Given the description of an element on the screen output the (x, y) to click on. 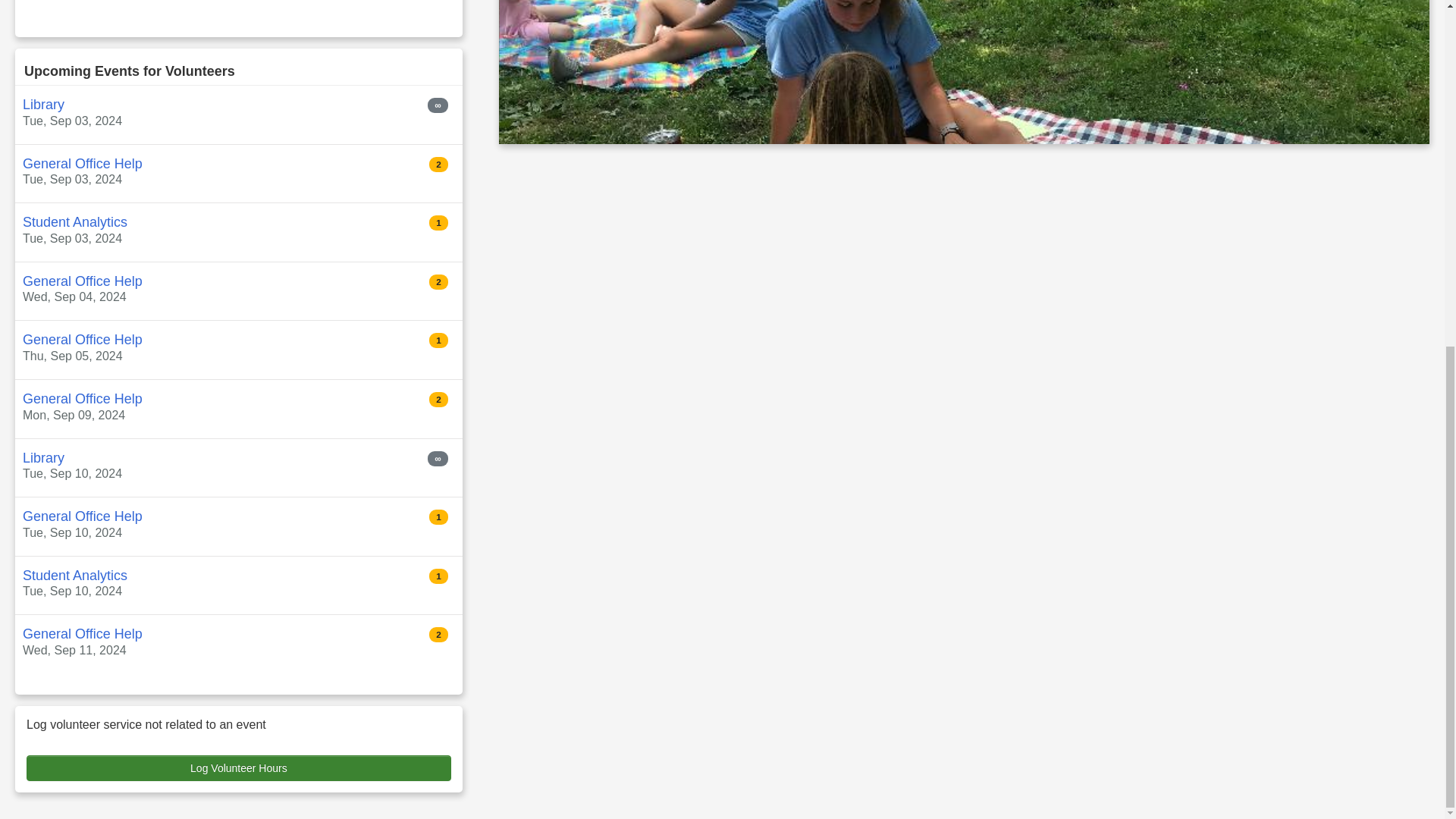
General Office Help (82, 398)
2 of 2 signups still needed (438, 281)
Student Analytics (75, 575)
General Office Help (82, 281)
2 of 2 signups still needed (438, 164)
Unlimited (437, 105)
1 of 2 signups still needed (438, 340)
General Office Help (82, 516)
Unlimited (437, 458)
General Office Help (82, 339)
